Given the description of an element on the screen output the (x, y) to click on. 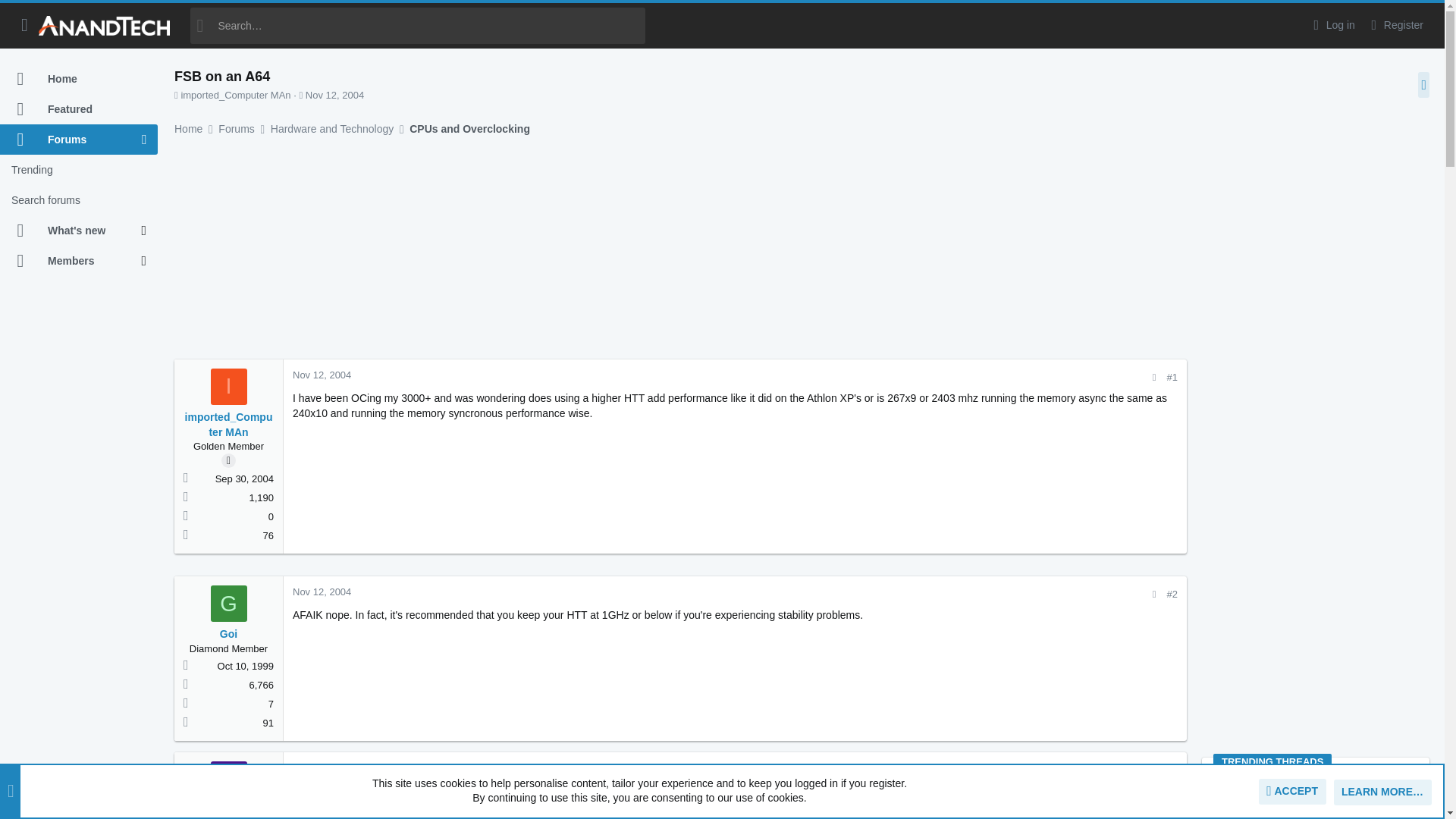
Trending (78, 169)
Nov 12, 2004 at 5:54 PM (334, 94)
Log in (1332, 24)
Search forums (78, 200)
Forums (70, 139)
What's new (70, 230)
Nov 12, 2004 at 8:15 PM (321, 767)
Home (78, 78)
Nov 12, 2004 at 7:14 PM (321, 591)
Featured (78, 109)
Nov 12, 2004 at 5:54 PM (321, 374)
Register (1395, 24)
